Given the description of an element on the screen output the (x, y) to click on. 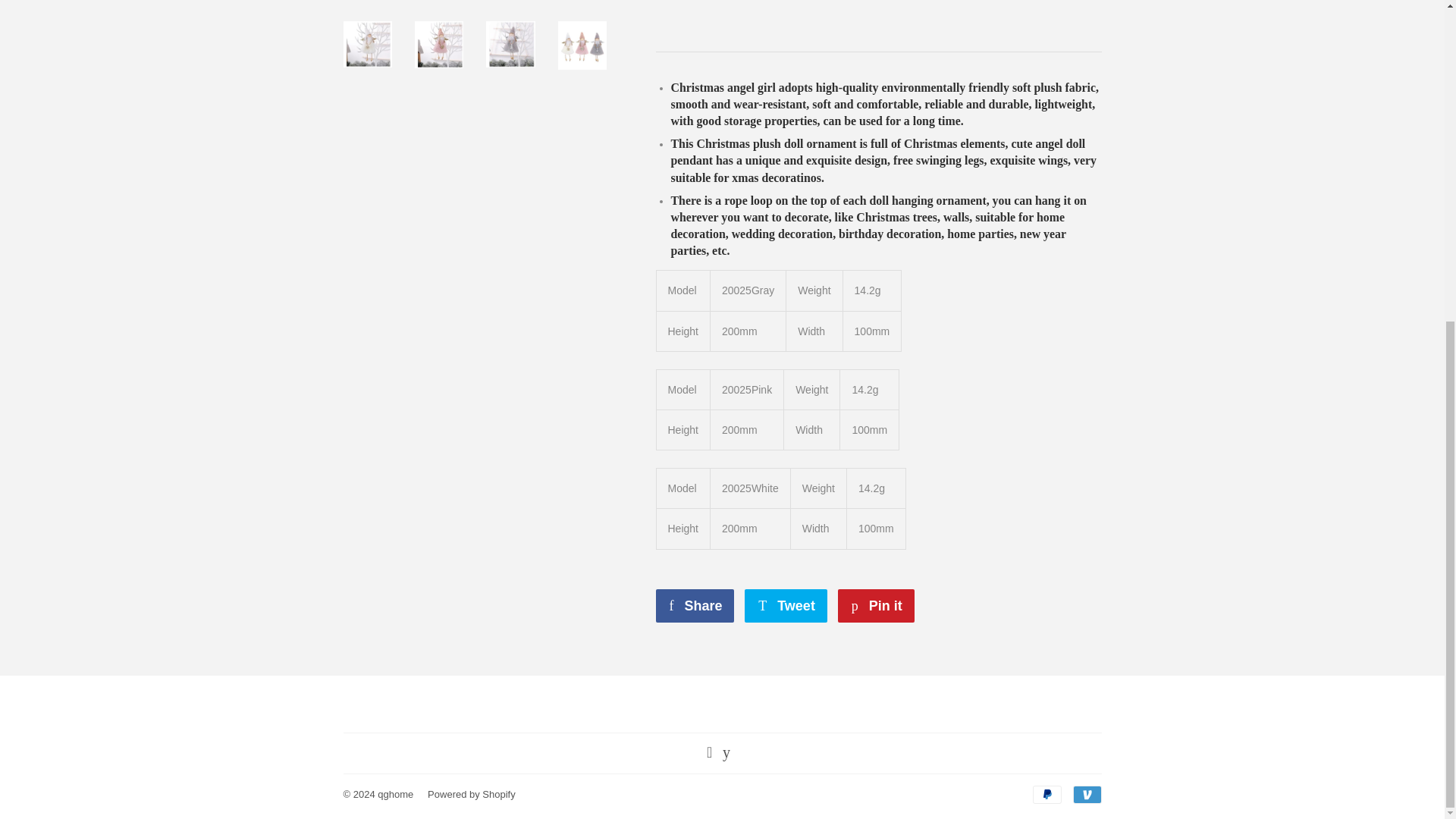
Share on Facebook (694, 605)
PayPal (1046, 794)
Powered by Shopify (471, 794)
qghome (395, 794)
Tweet on Twitter (785, 605)
Pin on Pinterest (876, 605)
Venmo (876, 605)
